Given the description of an element on the screen output the (x, y) to click on. 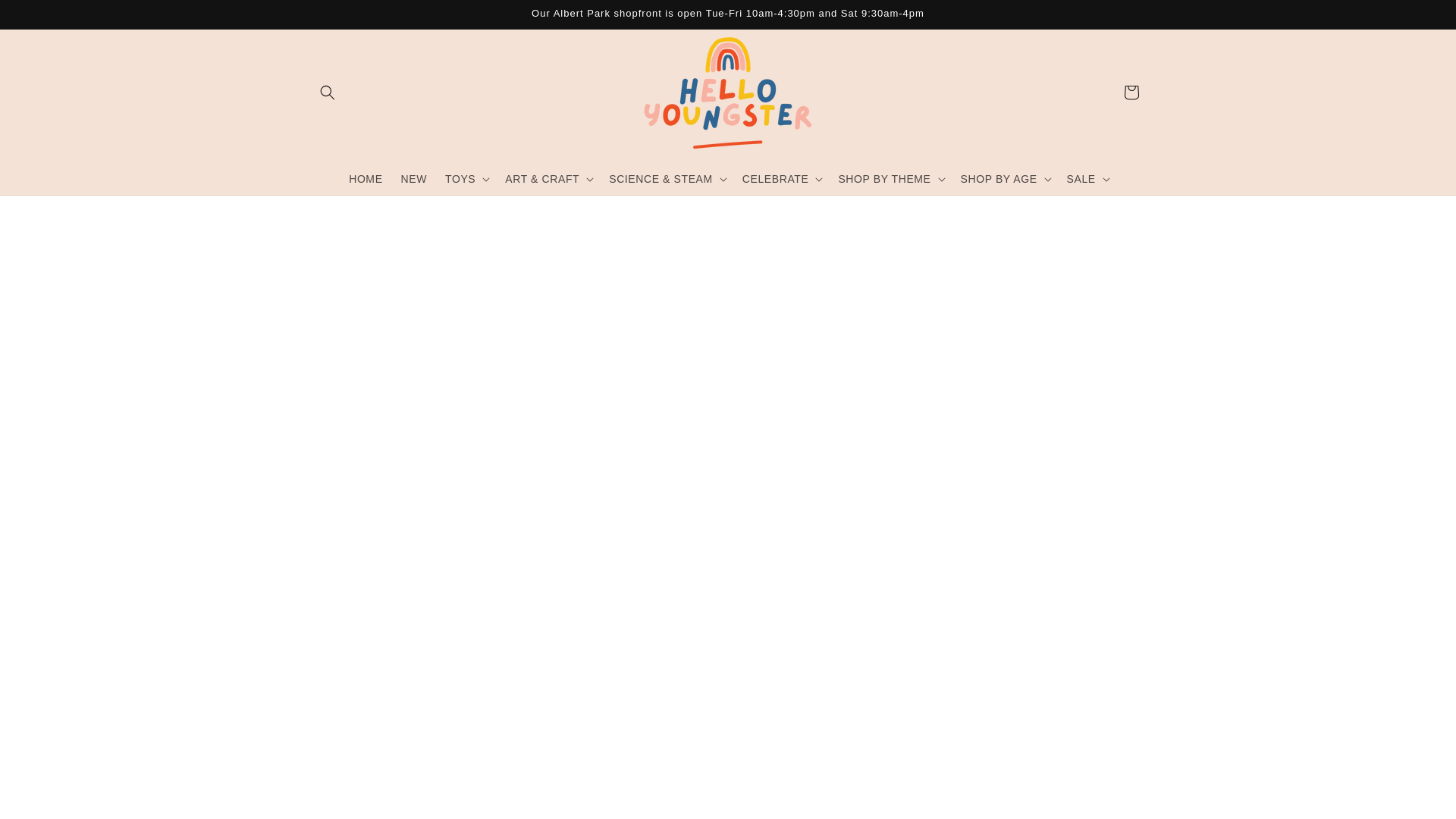
Skip to content (45, 17)
